Given the description of an element on the screen output the (x, y) to click on. 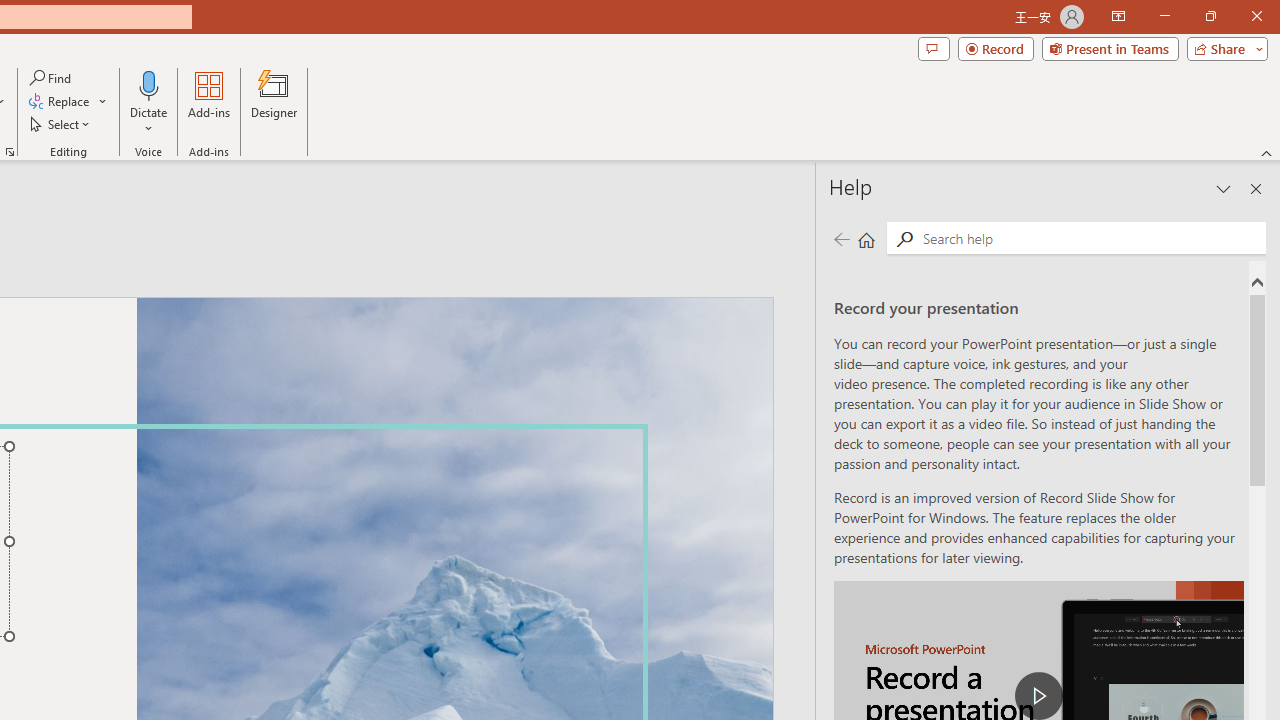
Minimize (1164, 16)
Replace... (60, 101)
Select (61, 124)
Task Pane Options (1224, 188)
Find... (51, 78)
Previous page (841, 238)
Ribbon Display Options (1118, 16)
Present in Teams (1109, 48)
Dictate (149, 102)
Designer (274, 102)
